Given the description of an element on the screen output the (x, y) to click on. 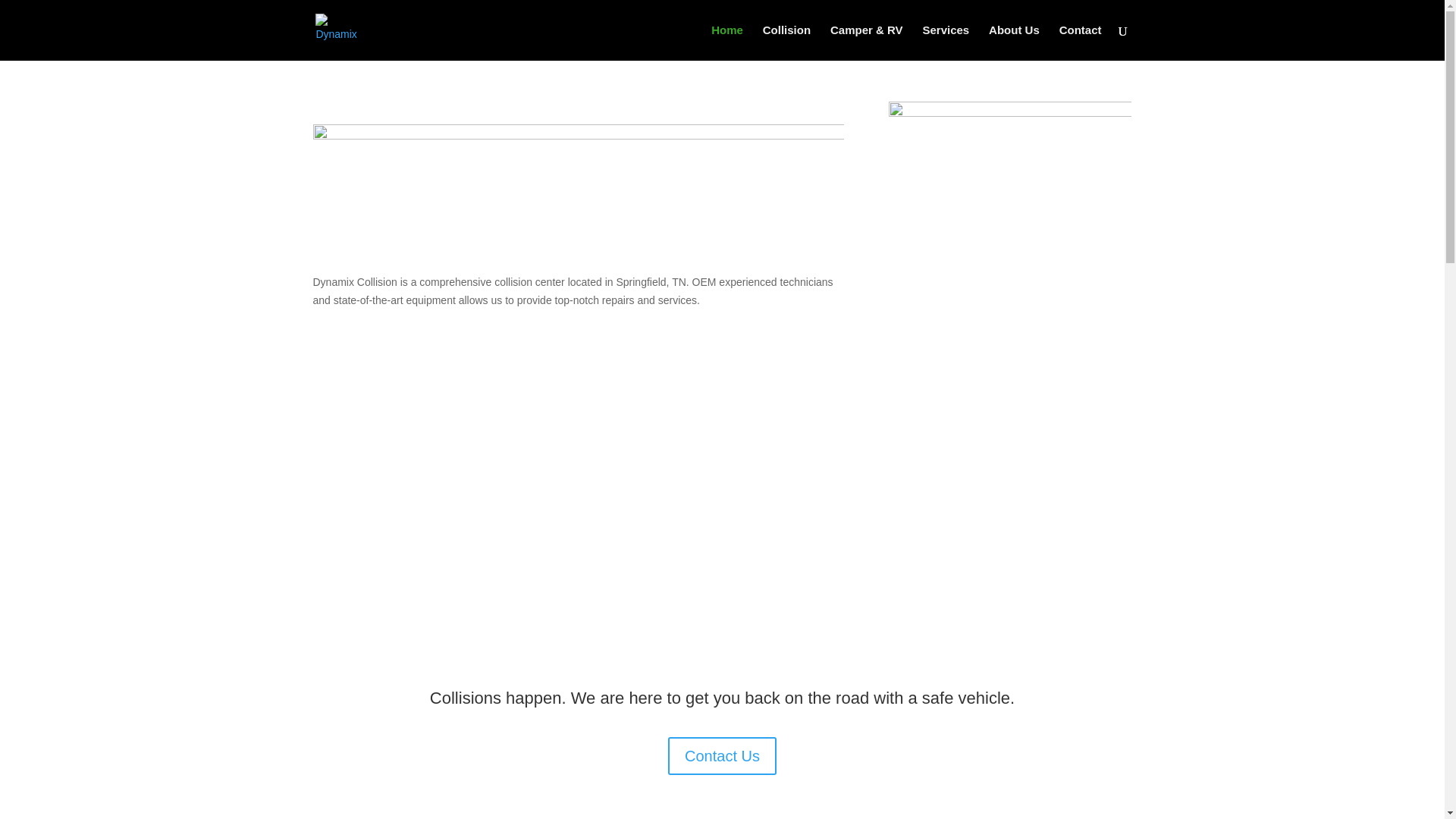
LogoTaglineWhite (578, 176)
Contact (1080, 42)
Collision (786, 42)
Services (945, 42)
crash (1009, 233)
Contact Us (722, 755)
About Us (1013, 42)
Home (726, 42)
